Given the description of an element on the screen output the (x, y) to click on. 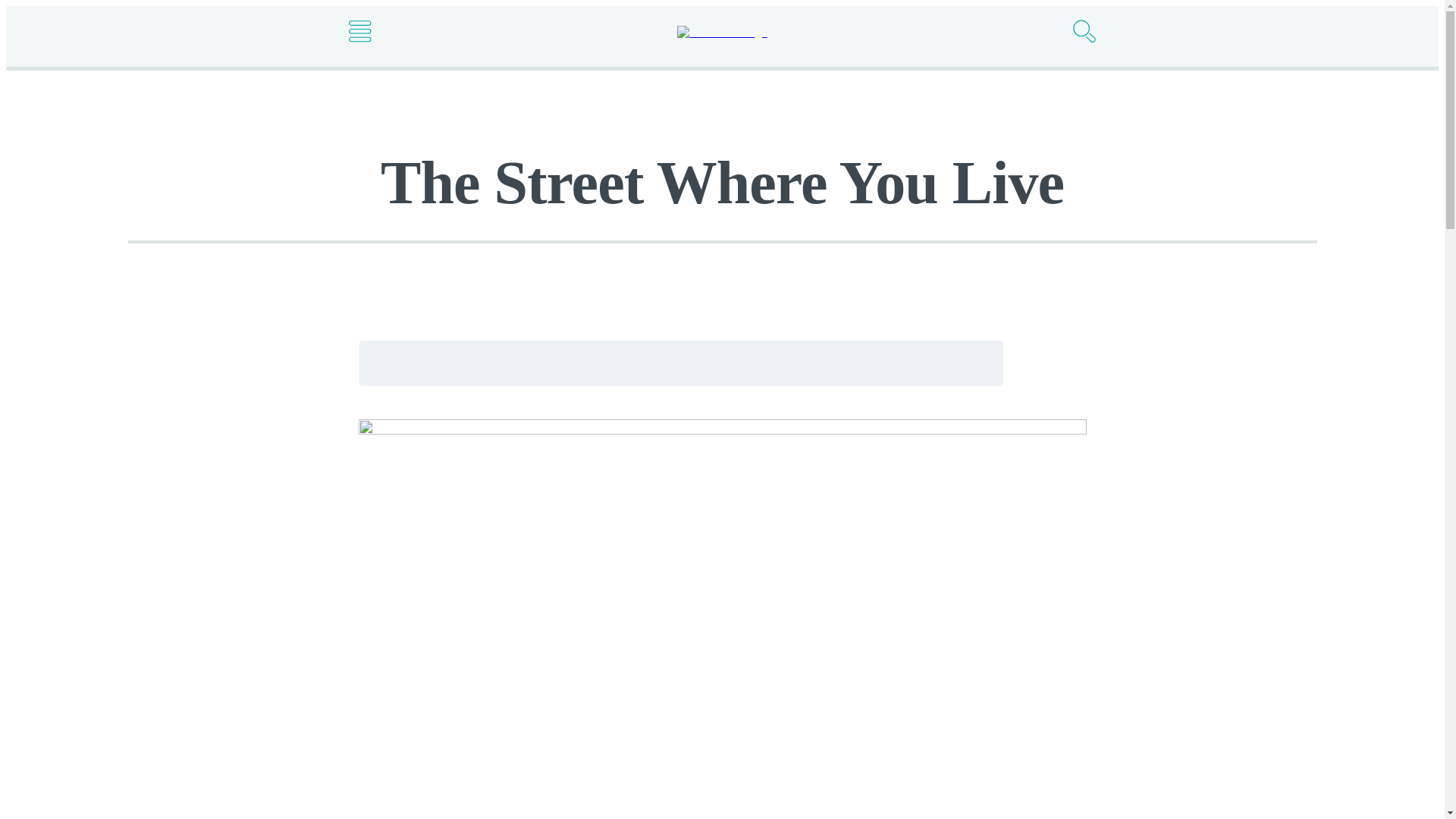
Dr Greene logo (722, 32)
